Given the description of an element on the screen output the (x, y) to click on. 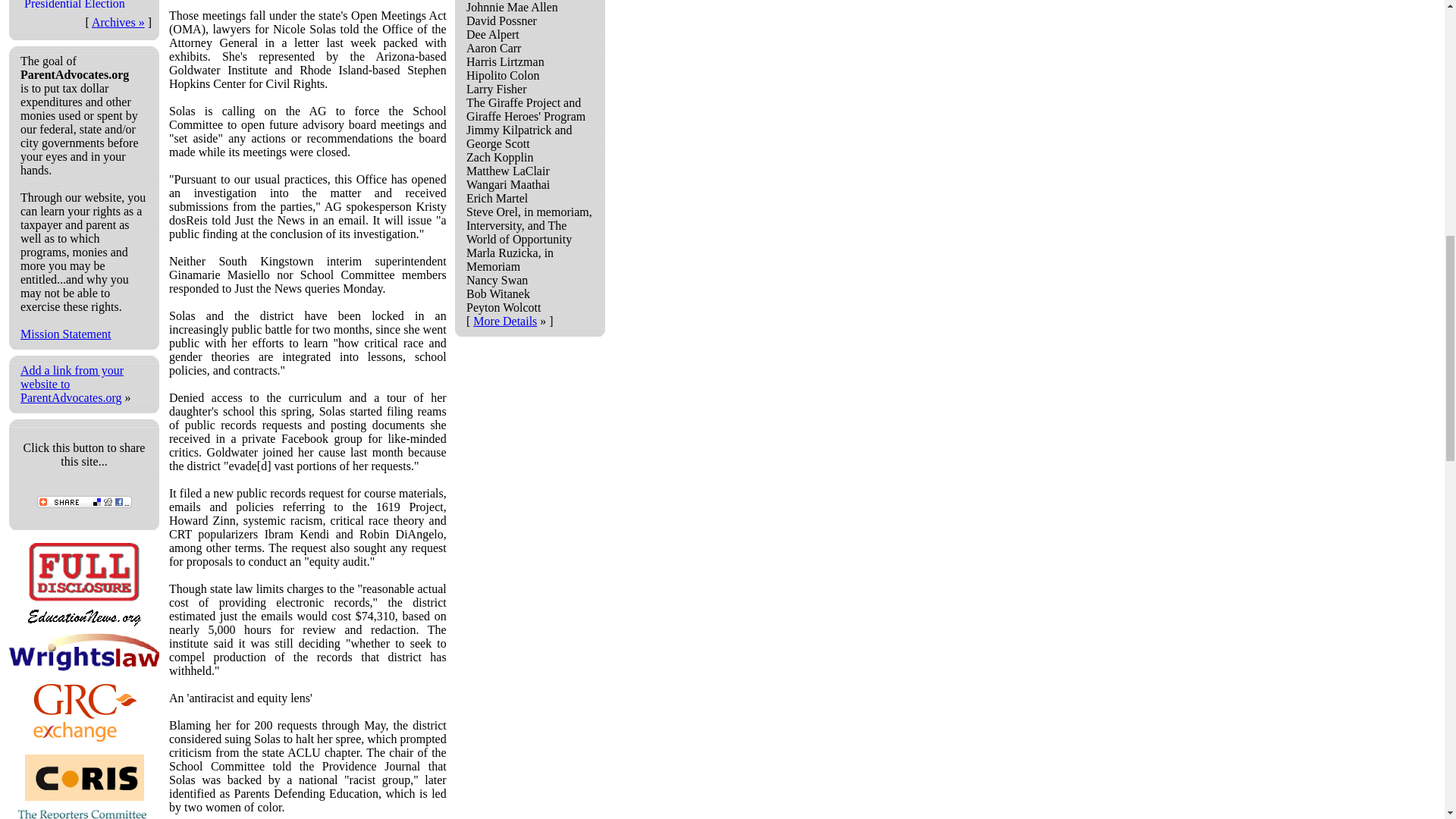
Add a link from your website to ParentAdvocates.org (71, 383)
Mission Statement (66, 333)
More Details (505, 320)
